Given the description of an element on the screen output the (x, y) to click on. 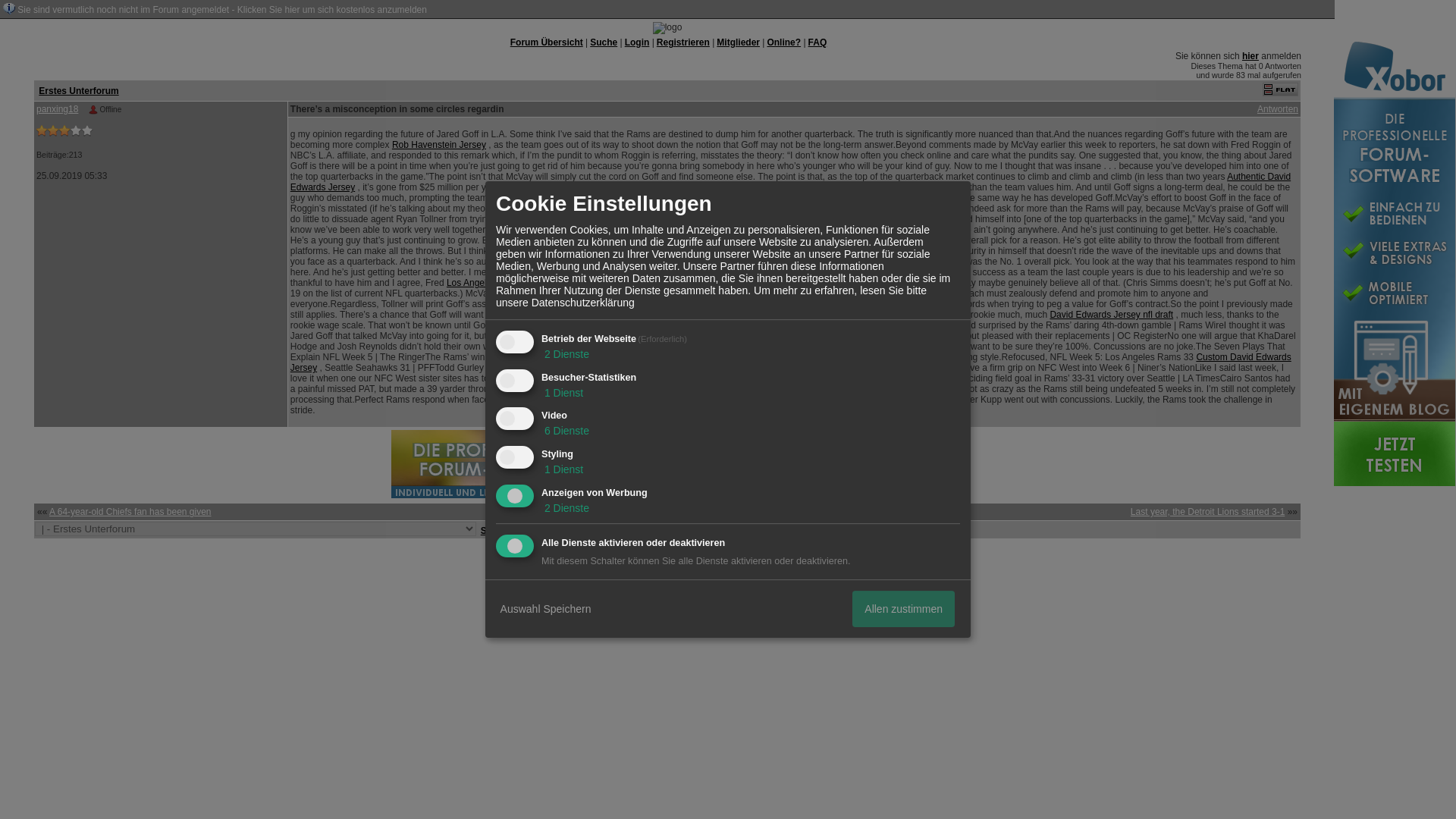
hier (1250, 55)
FAQ (817, 41)
Forum erstellen (690, 550)
Last year, the Detroit Lions started 3-1 (1207, 511)
Authentic David Edwards Jersey (789, 181)
Los Angeles Rams Jerseys Stitched (518, 282)
Rob Havenstein Jersey (438, 144)
2 Dienste (565, 508)
Custom David Edwards Jersey (790, 362)
Erstes Unterforum (78, 90)
panxing18 (57, 109)
David Edwards Los Angeles Rams Jerseys (752, 229)
1 Dienst (562, 392)
2 Dienste (565, 354)
